Given the description of an element on the screen output the (x, y) to click on. 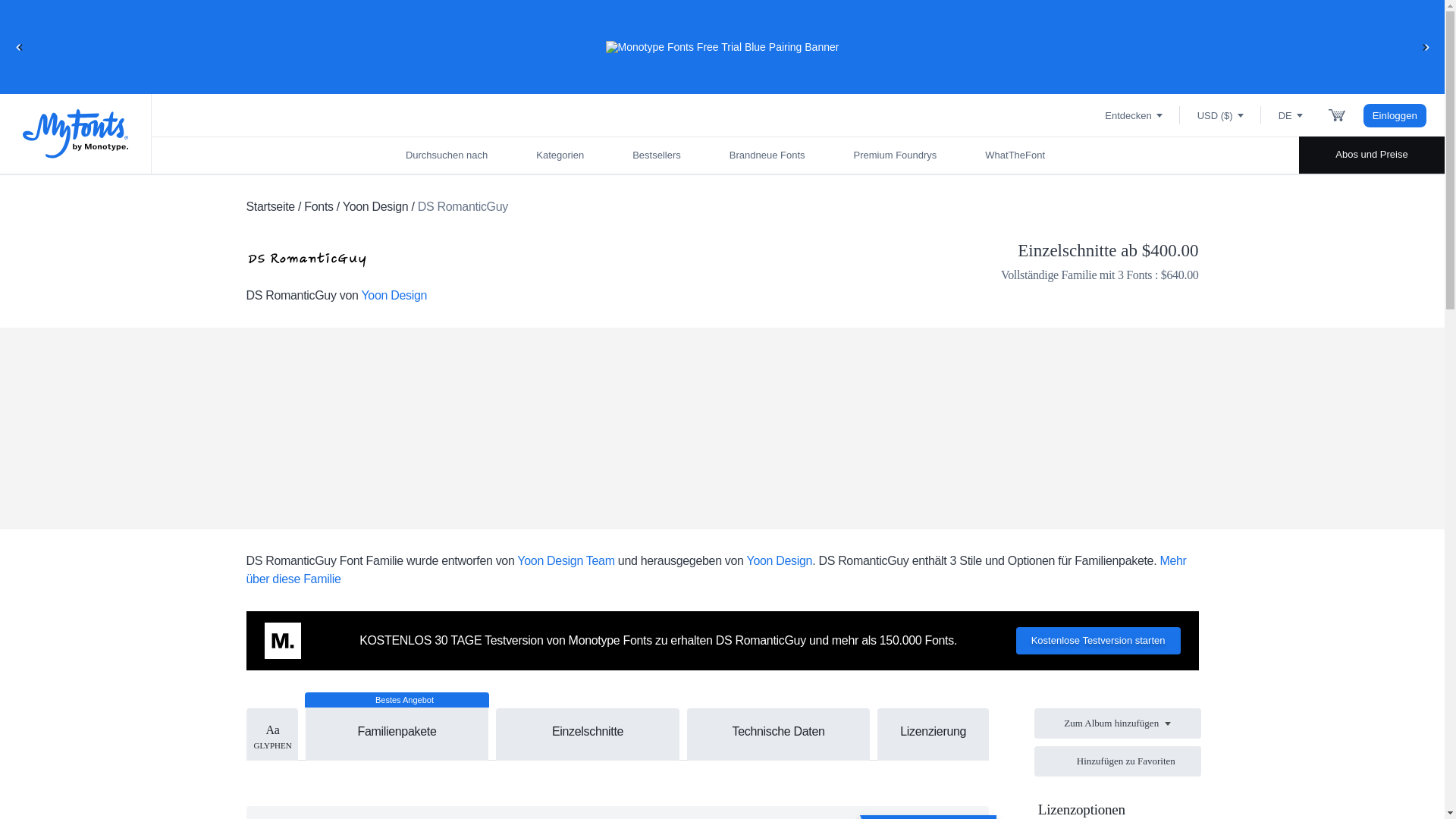
Einzelschnitte (587, 730)
Einloggen (1394, 114)
Familienpakete (397, 722)
MyFonts (75, 133)
Technische Daten (778, 730)
Glyphen (271, 734)
Lizenzierung (932, 730)
Zum Inhalt springen (72, 27)
